Given the description of an element on the screen output the (x, y) to click on. 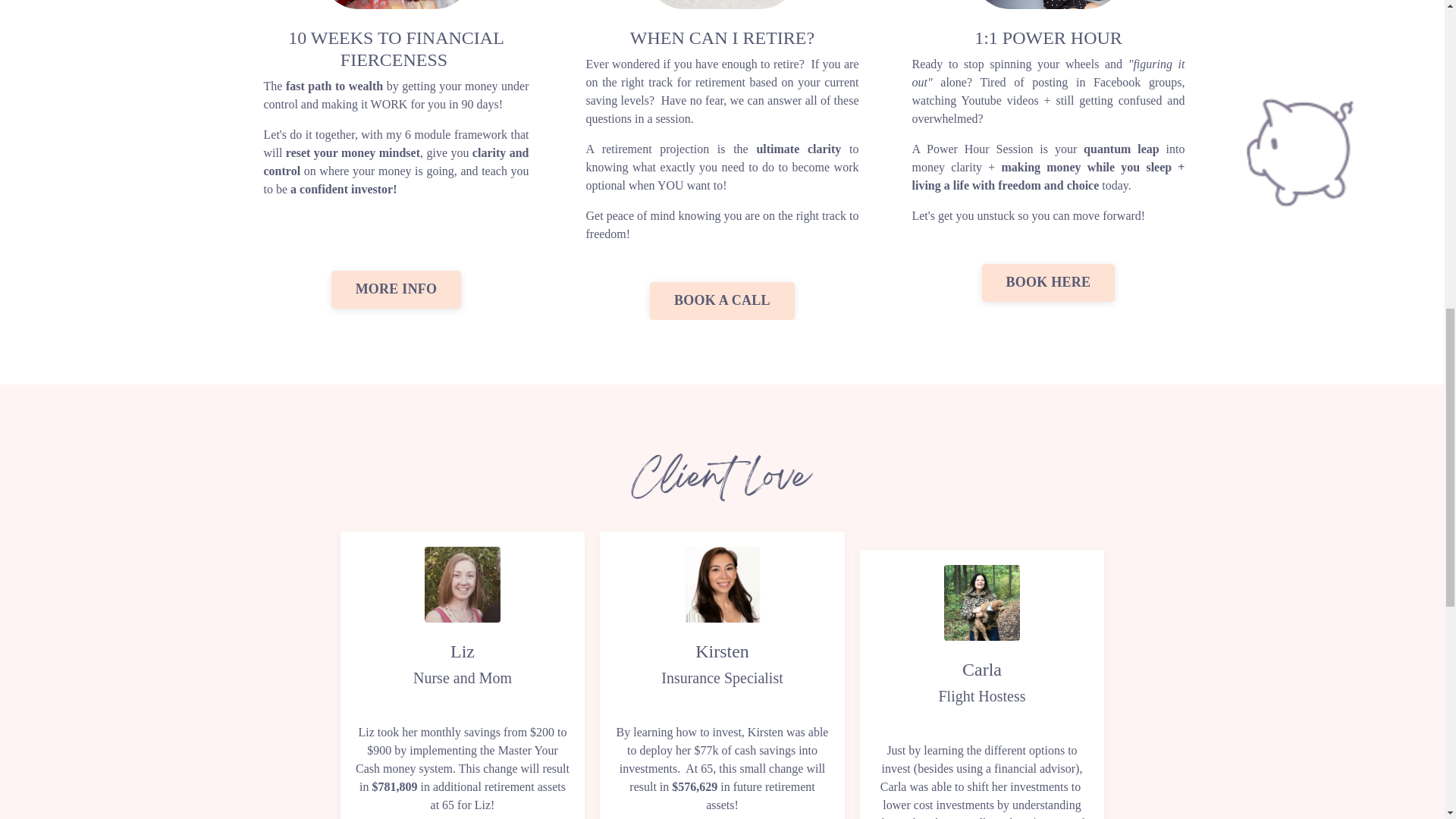
MORE INFO (396, 289)
BOOK HERE (1048, 282)
BOOK A CALL (721, 300)
